Given the description of an element on the screen output the (x, y) to click on. 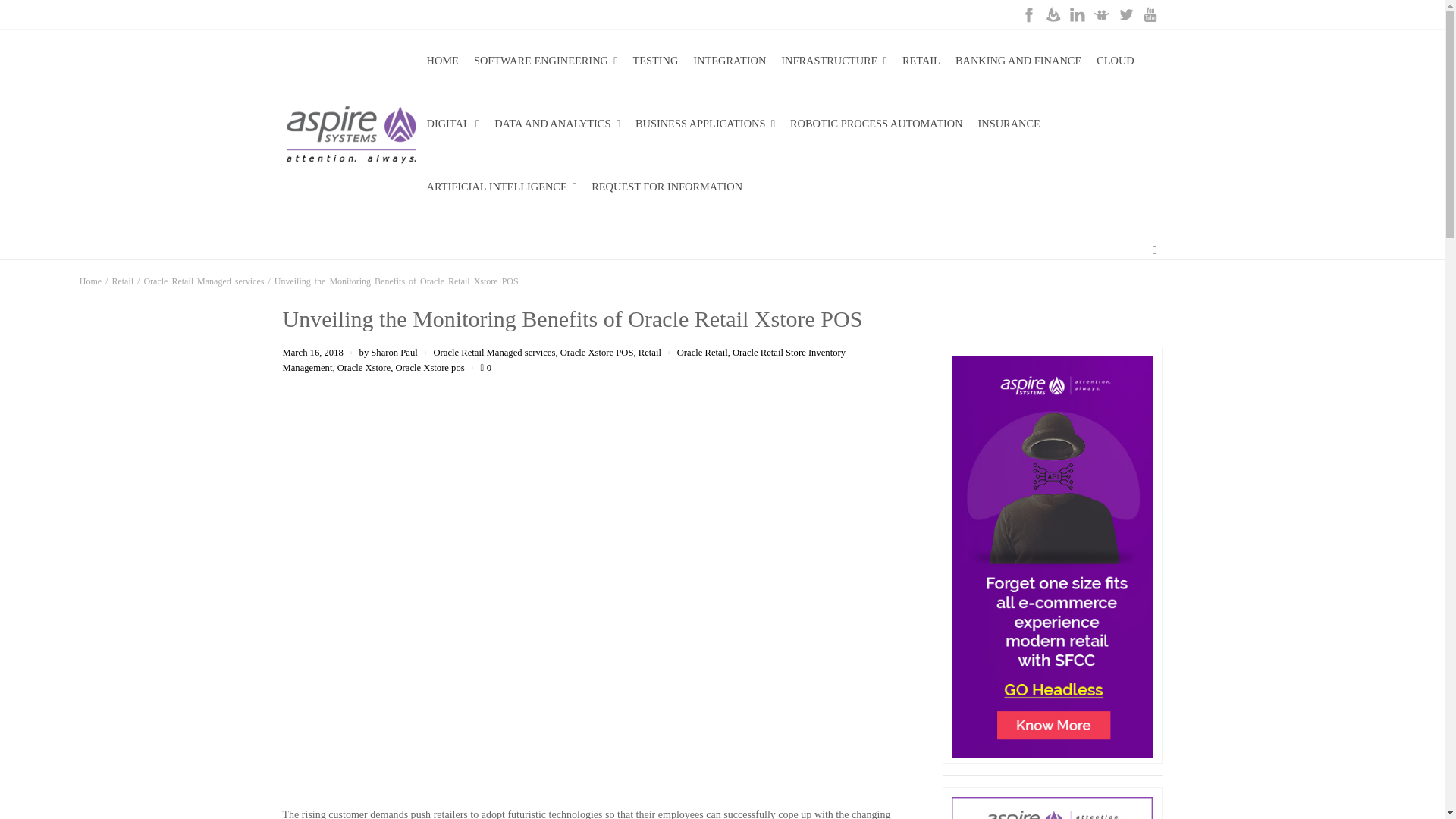
DATA AND ANALYTICS (556, 123)
SlideShare (1101, 14)
Twitter (1125, 14)
SOFTWARE ENGINEERING (545, 60)
Facebook (1028, 14)
DIGITAL (452, 123)
Posts by Sharon Paul (393, 352)
BUSINESS APPLICATIONS (705, 123)
FeedBurner (1052, 14)
TESTING (654, 60)
